Given the description of an element on the screen output the (x, y) to click on. 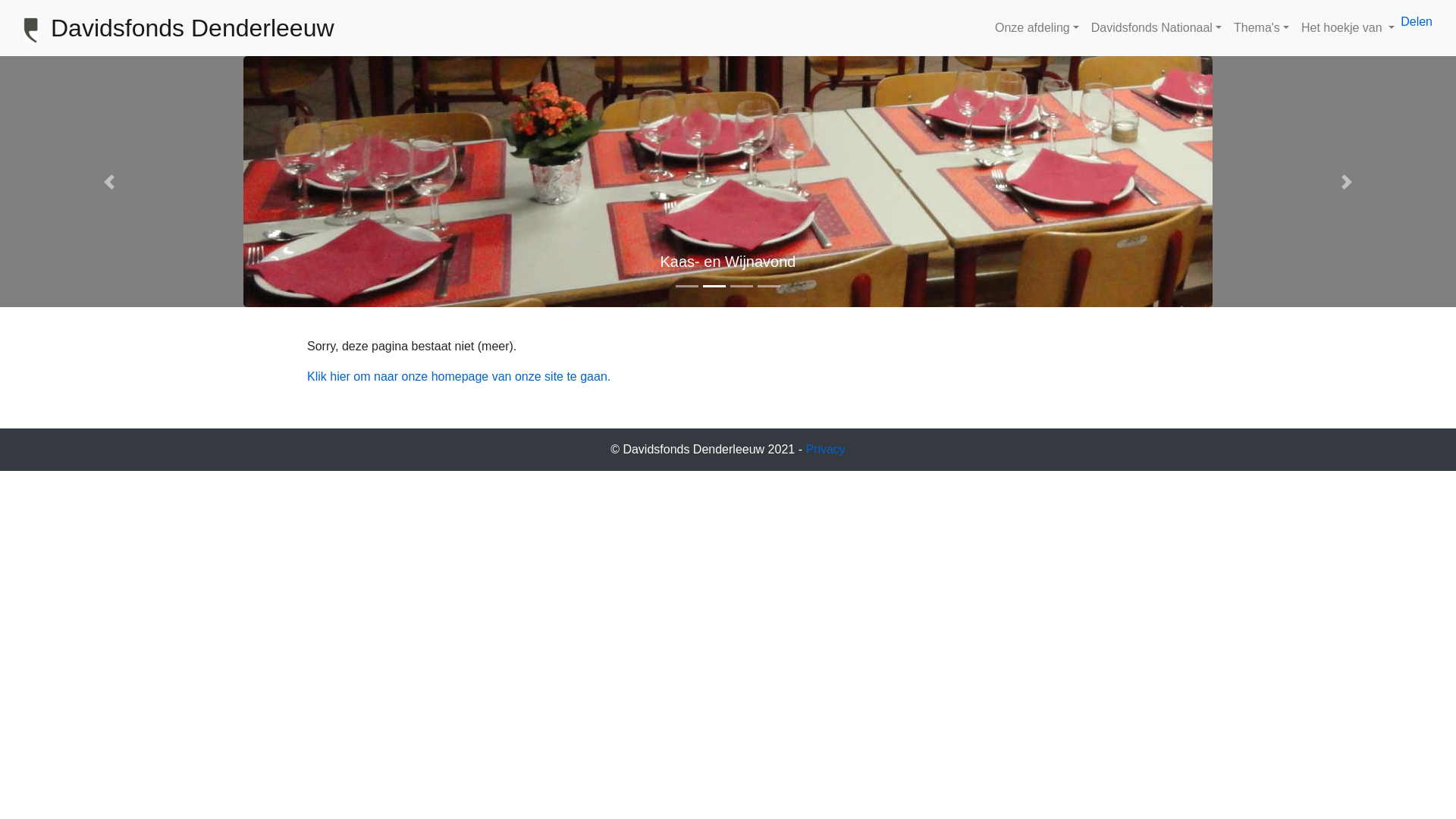
Onze afdeling Element type: text (1036, 27)
Klik hier om naar onze homepage van onze site te gaan. Element type: text (458, 376)
Delen Element type: text (1416, 21)
Davidsfonds Nationaal Element type: text (1156, 27)
Davidsfonds Denderleeuw Element type: text (192, 28)
Ga naar de homepage van Davidsfonds Denderleeuw Element type: hover (30, 29)
Privacy Element type: text (824, 448)
Het hoekje van Element type: text (1347, 27)
Thema's Element type: text (1261, 27)
Previous Element type: text (109, 181)
